Given the description of an element on the screen output the (x, y) to click on. 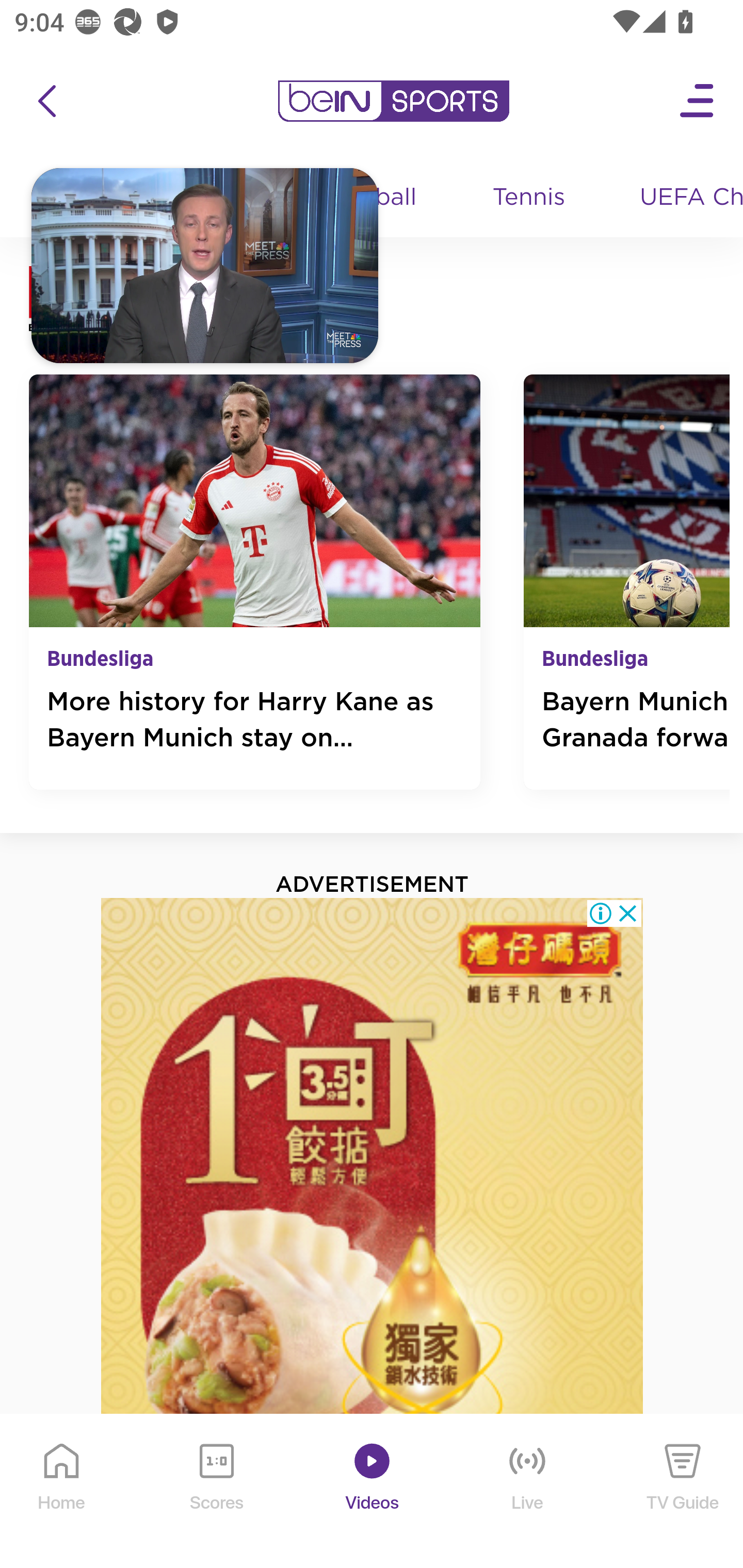
en-my?platform=mobile_android bein logo (392, 101)
icon back (46, 101)
Open Menu Icon (697, 101)
Tennis (530, 198)
UEFA Champions League (683, 198)
Advertisement (372, 1232)
Advertisement (372, 1232)
Home Home Icon Home (61, 1491)
Scores Scores Icon Scores (216, 1491)
Videos Videos Icon Videos (372, 1491)
TV Guide TV Guide Icon TV Guide (682, 1491)
